Given the description of an element on the screen output the (x, y) to click on. 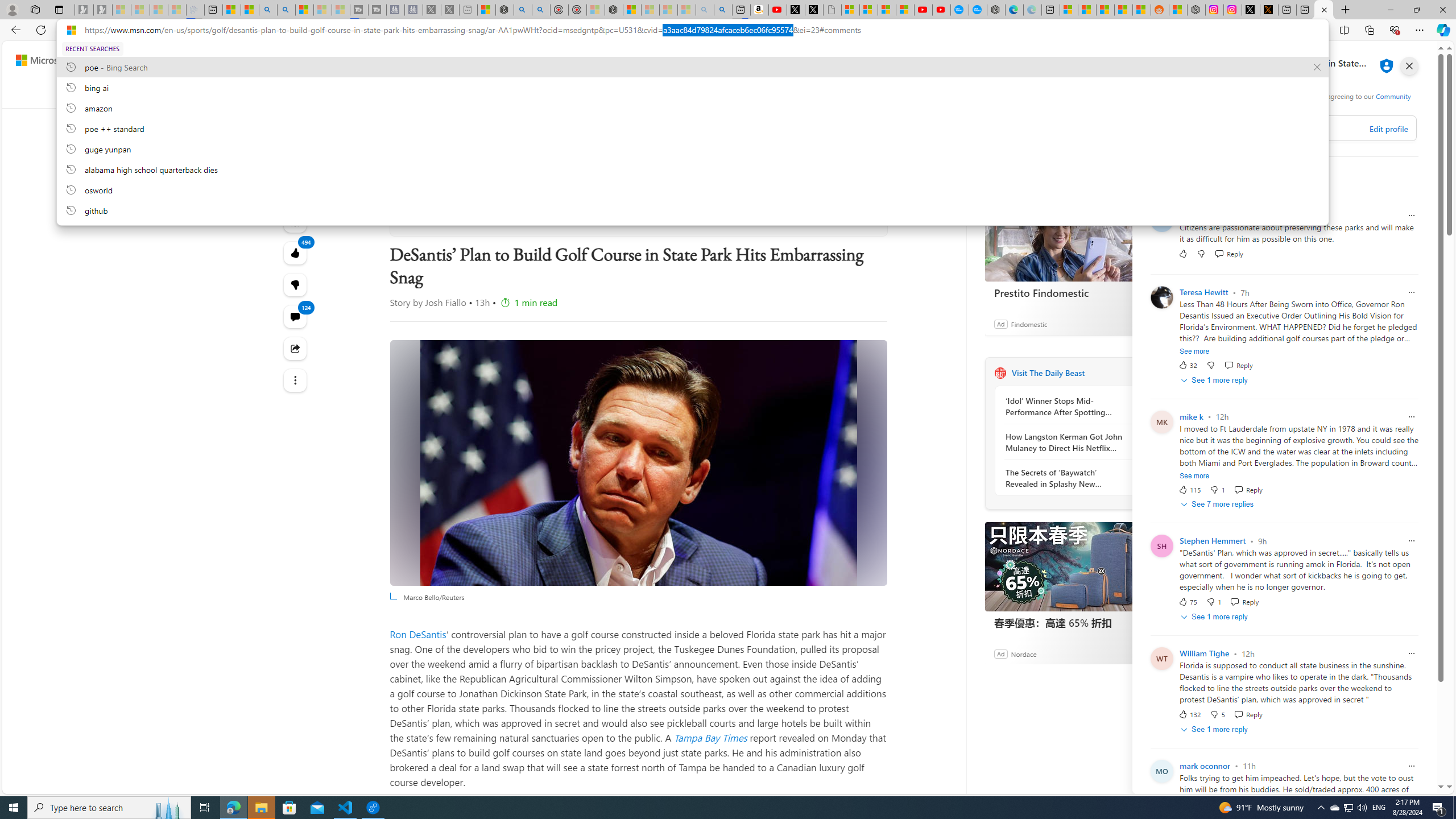
Like (1182, 253)
NCAA BK (966, 92)
Motorsports (850, 92)
The Daily Beast (1000, 372)
help.x.com | 524: A timeout occurred (1268, 9)
NBA (487, 92)
Soccer (592, 92)
View comments 124 Comment (295, 316)
X - Sleeping (450, 9)
Shanghai, China Weather trends | Microsoft Weather (1142, 9)
poe, recent searches from history (691, 66)
